Given the description of an element on the screen output the (x, y) to click on. 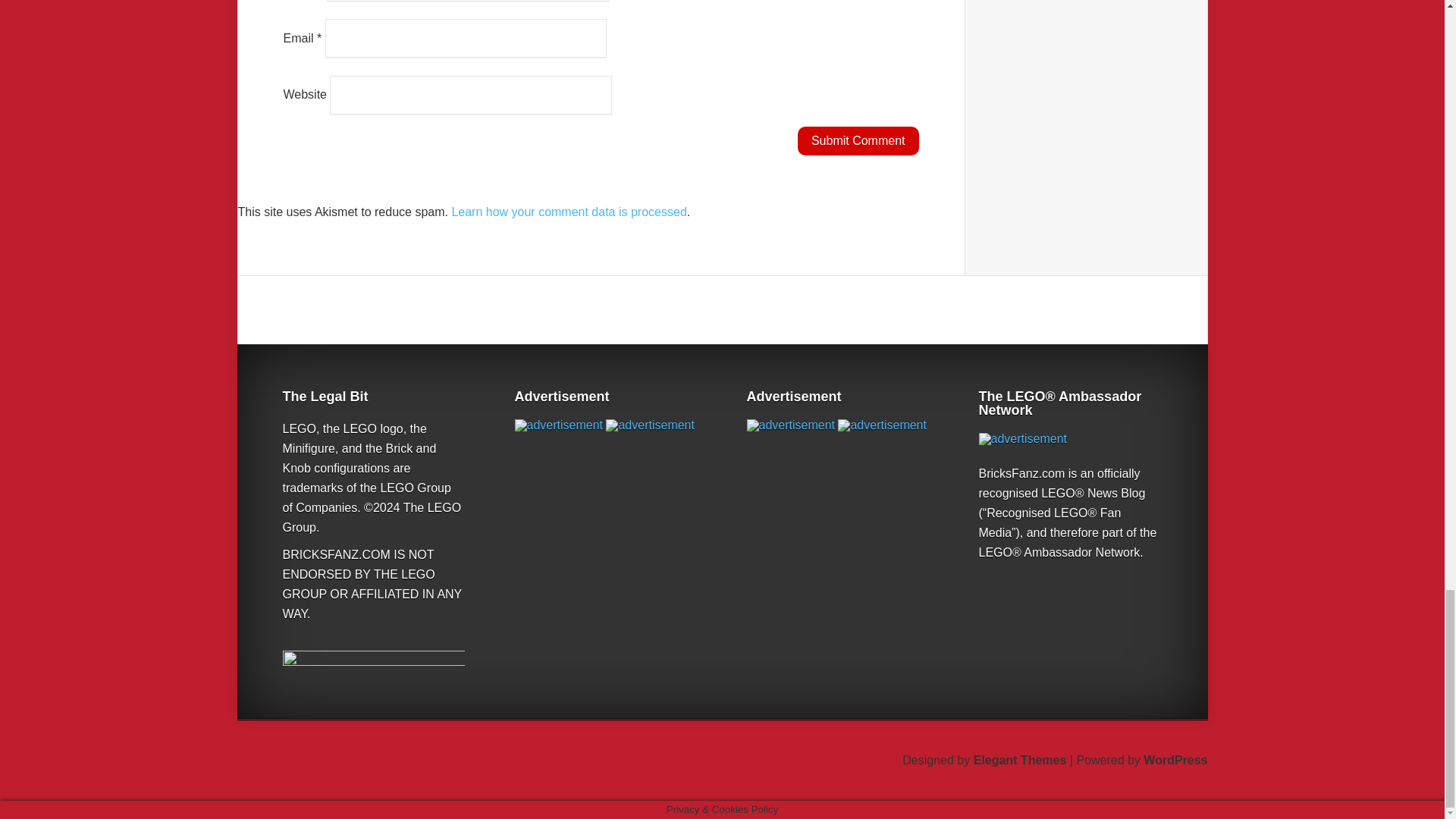
advertisement (649, 425)
Premium WordPress Themes (1020, 759)
advertisement (789, 425)
Submit Comment (857, 140)
advertisement (882, 425)
advertisement (557, 425)
Submit Comment (857, 140)
Learn how your comment data is processed (568, 211)
advertisement (1022, 439)
